Given the description of an element on the screen output the (x, y) to click on. 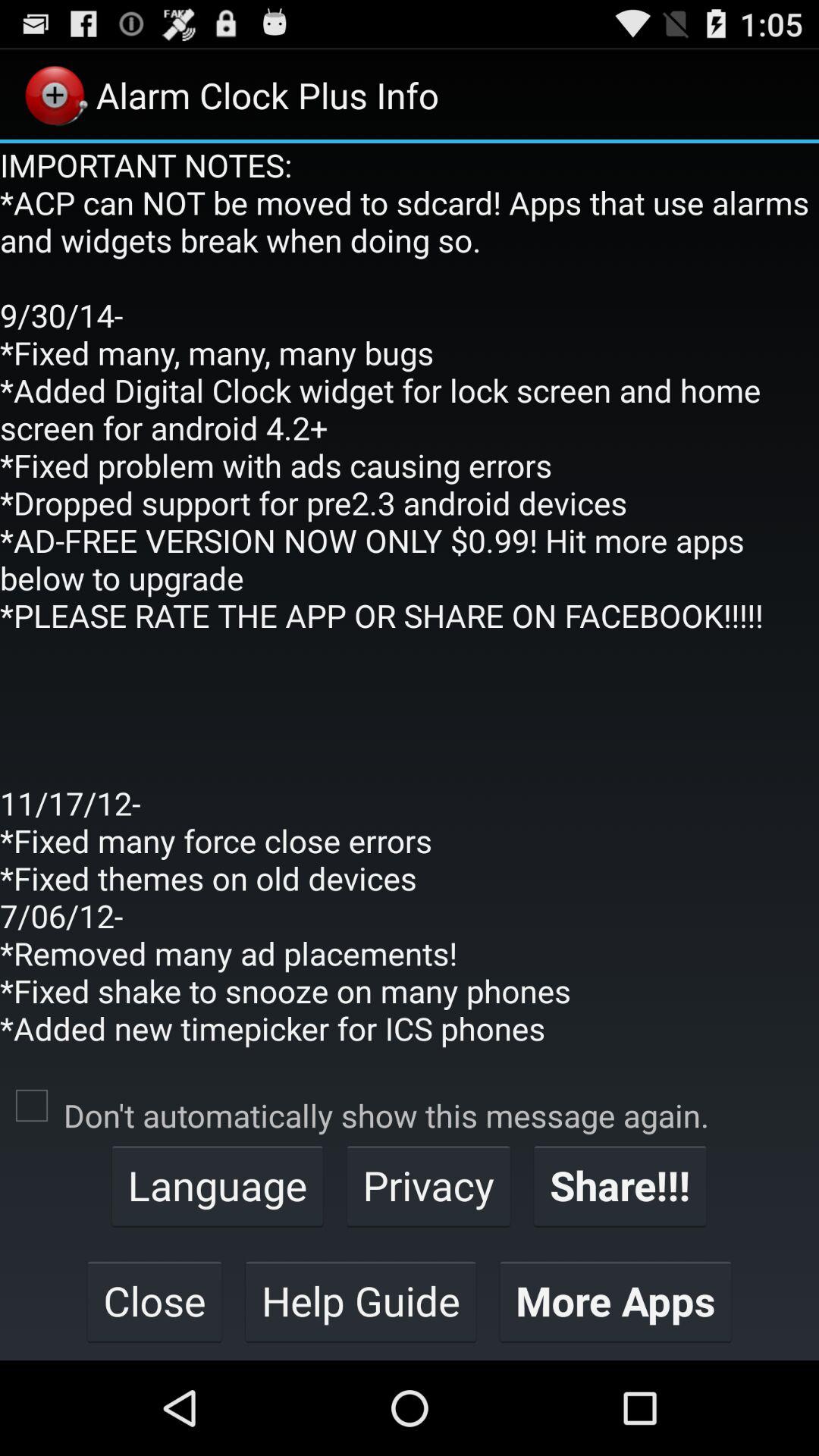
open icon below privacy button (615, 1300)
